Given the description of an element on the screen output the (x, y) to click on. 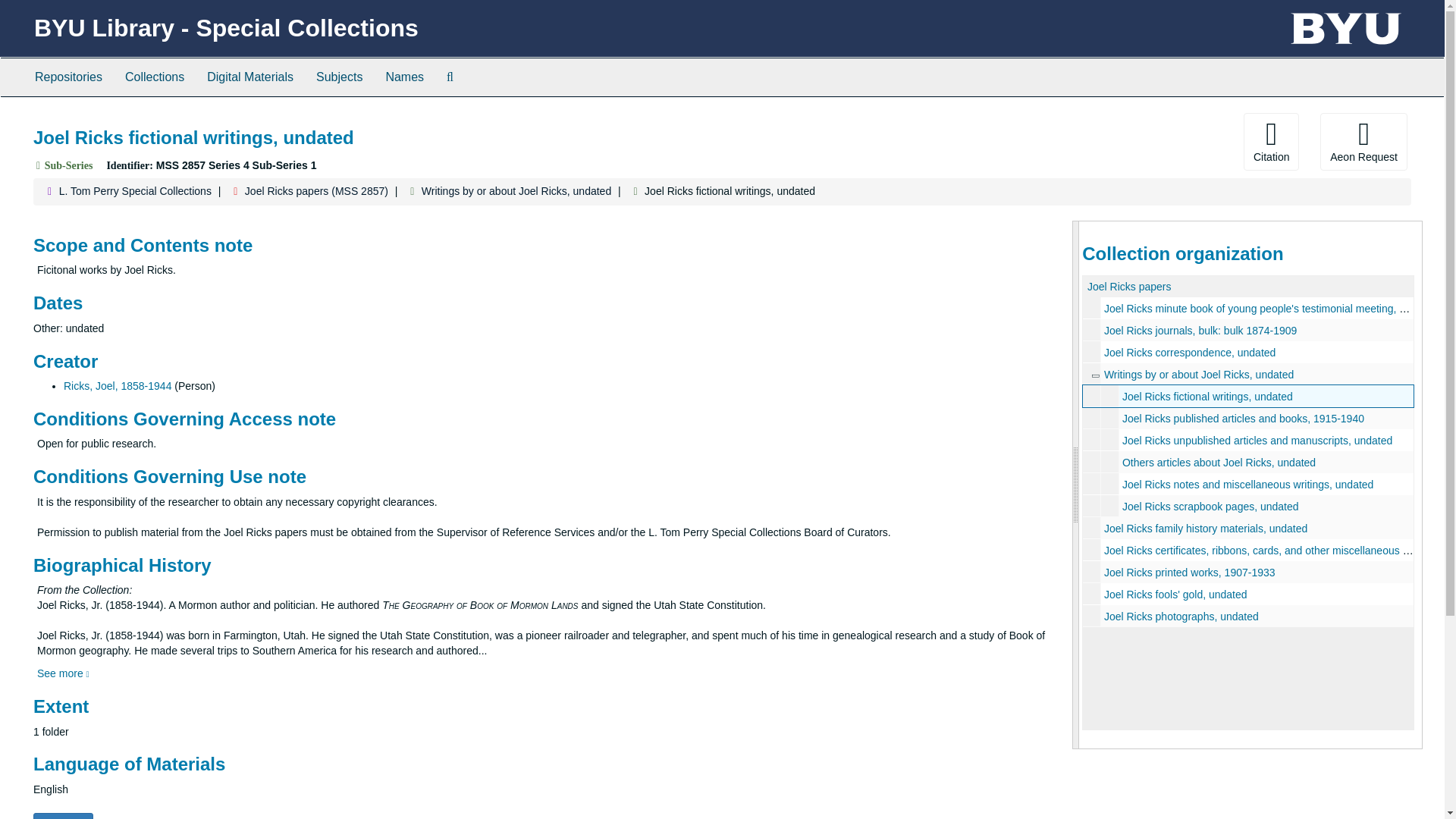
Others articles about Joel Ricks (1248, 462)
Joel Ricks family history materials (1248, 527)
Joel Ricks fictional writings, undated (1207, 396)
Writings by or about Joel Ricks (1248, 373)
Digital Materials (249, 77)
Joel Ricks fools' gold (1248, 594)
Names (404, 77)
Joel Ricks scrapbook pages (1248, 505)
Aeon Request (1363, 141)
BYU Library - Special Collections (226, 27)
Writings by or about Joel Ricks (1093, 374)
Joel Ricks notes and miscellaneous writings (1248, 484)
Search The Archives (449, 77)
Return to the homepage (226, 27)
Writings by or about Joel Ricks, undated (1198, 374)
